Given the description of an element on the screen output the (x, y) to click on. 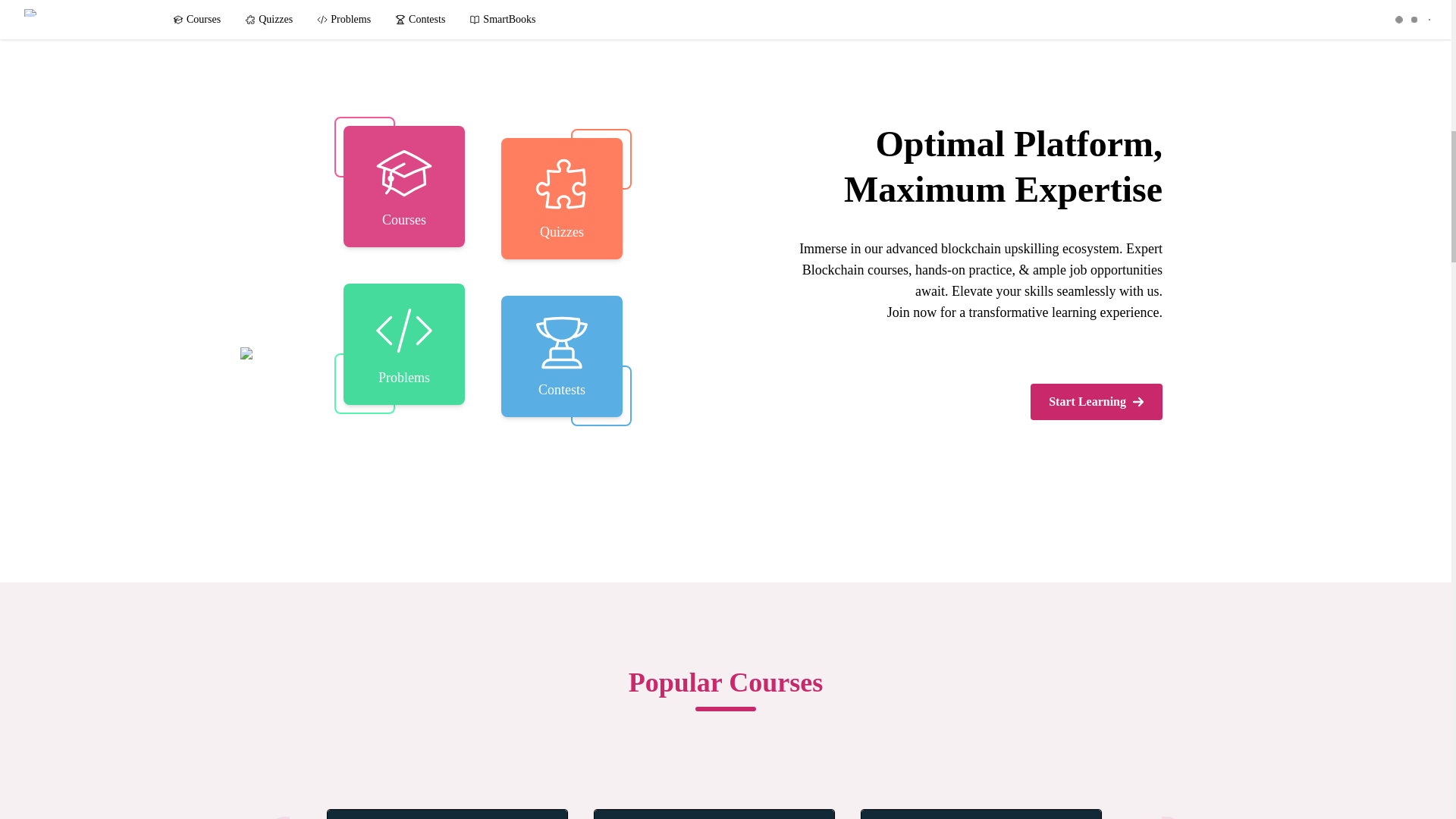
Contests (561, 355)
Problems (403, 343)
Start Learning (1095, 402)
Quizzes (561, 198)
Courses (403, 186)
